Given the description of an element on the screen output the (x, y) to click on. 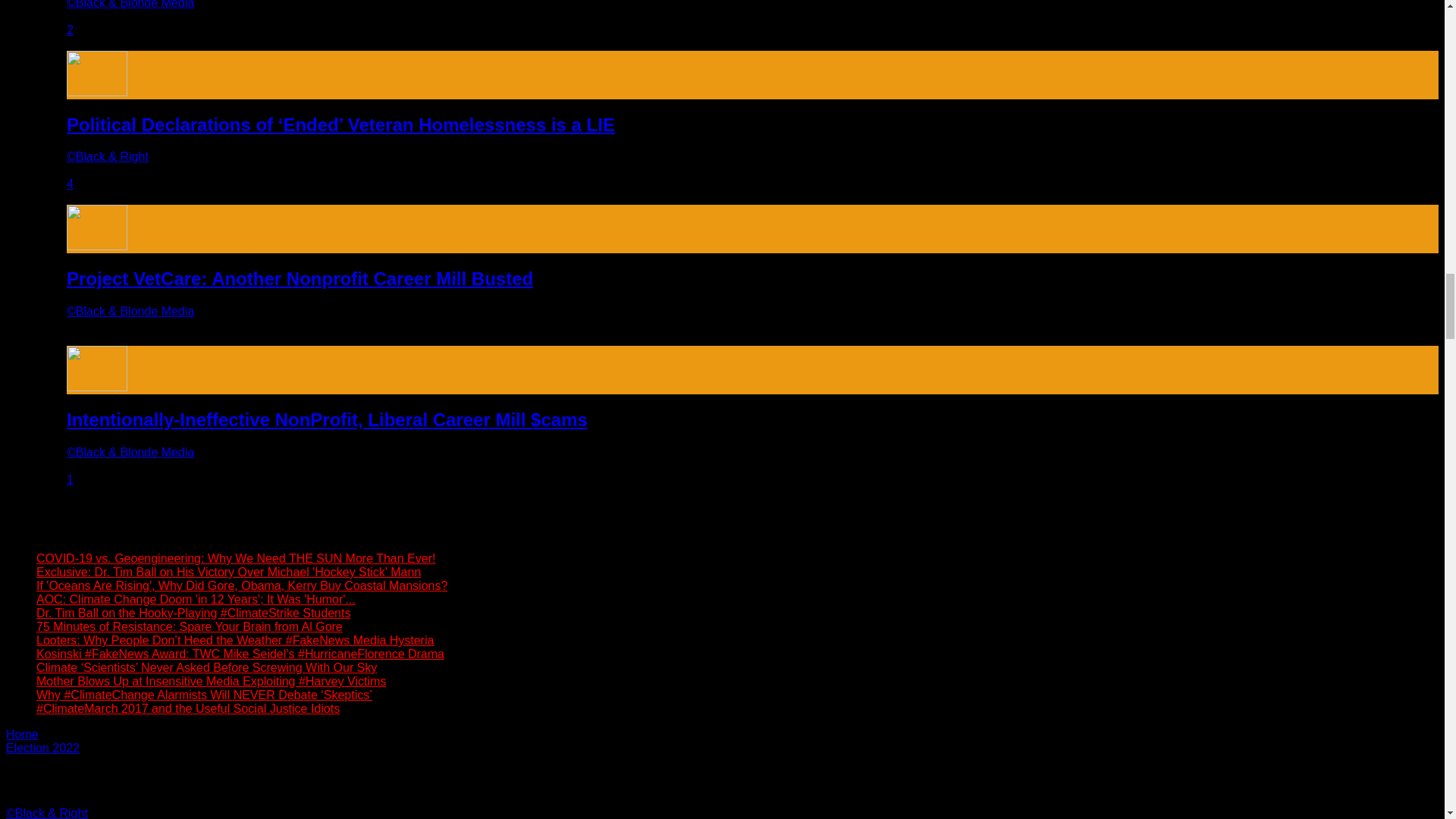
AOC: Climate Change Doom 'in 12 Years'; It Was 'Humor'... (195, 599)
View all posts in Election 2022 (42, 748)
75 Minutes of Resistance: Spare Your Brain from Al Gore (189, 626)
